Given the description of an element on the screen output the (x, y) to click on. 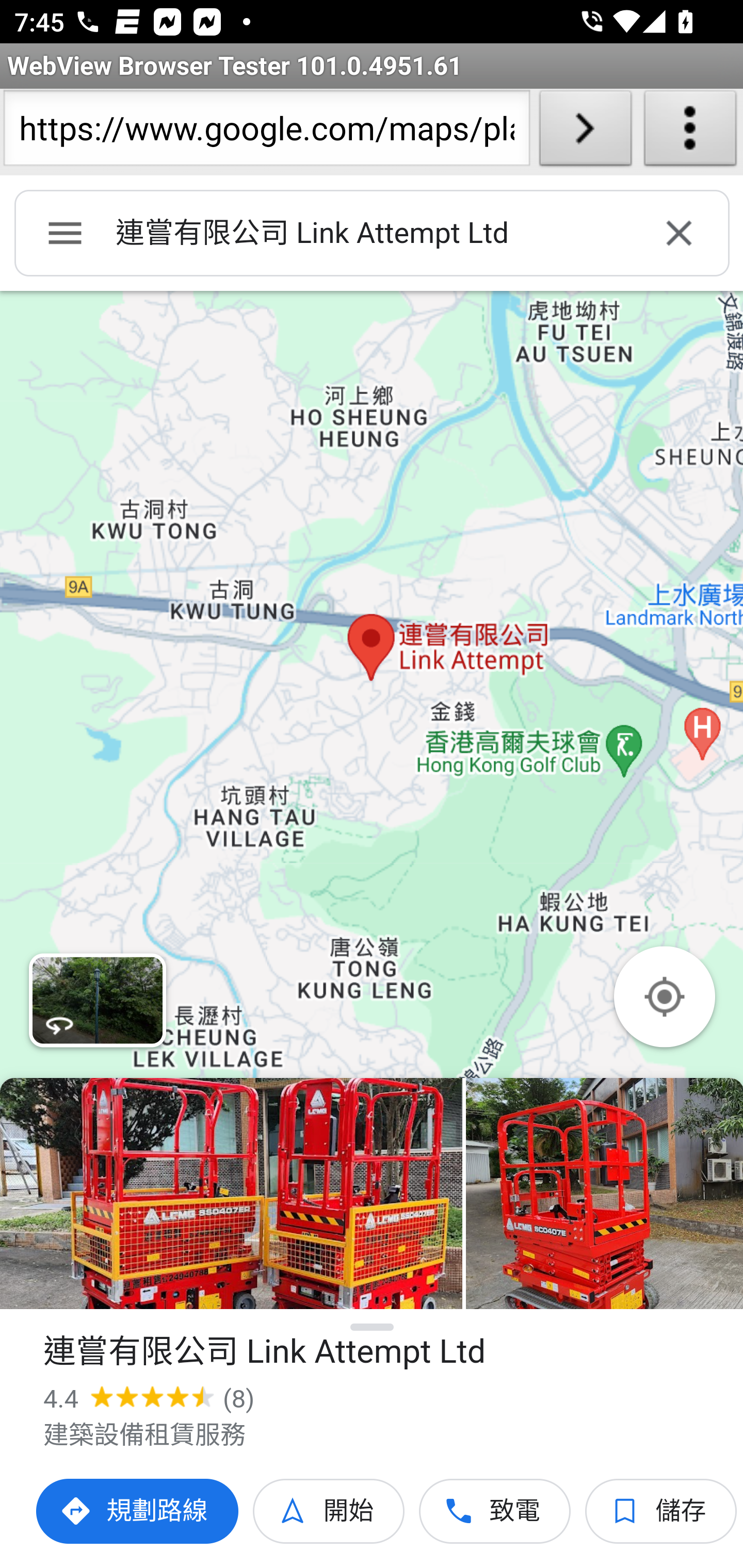
Load URL (585, 132)
About WebView (690, 132)
第 1 張相片 (共 9 張) (231, 1193)
第 2 張相片 (共 9 張) (604, 1193)
顯示詳細資料 (372, 1327)
前往連嘗有限公司 Link Attempt Ltd的路線 (137, 1511)
開始 (329, 1511)
致電「連嘗有限公司 Link Attempt Ltd」  致電 (495, 1511)
將「連嘗有限公司 Link Attempt Ltd」儲存至清單中 (661, 1511)
